Given the description of an element on the screen output the (x, y) to click on. 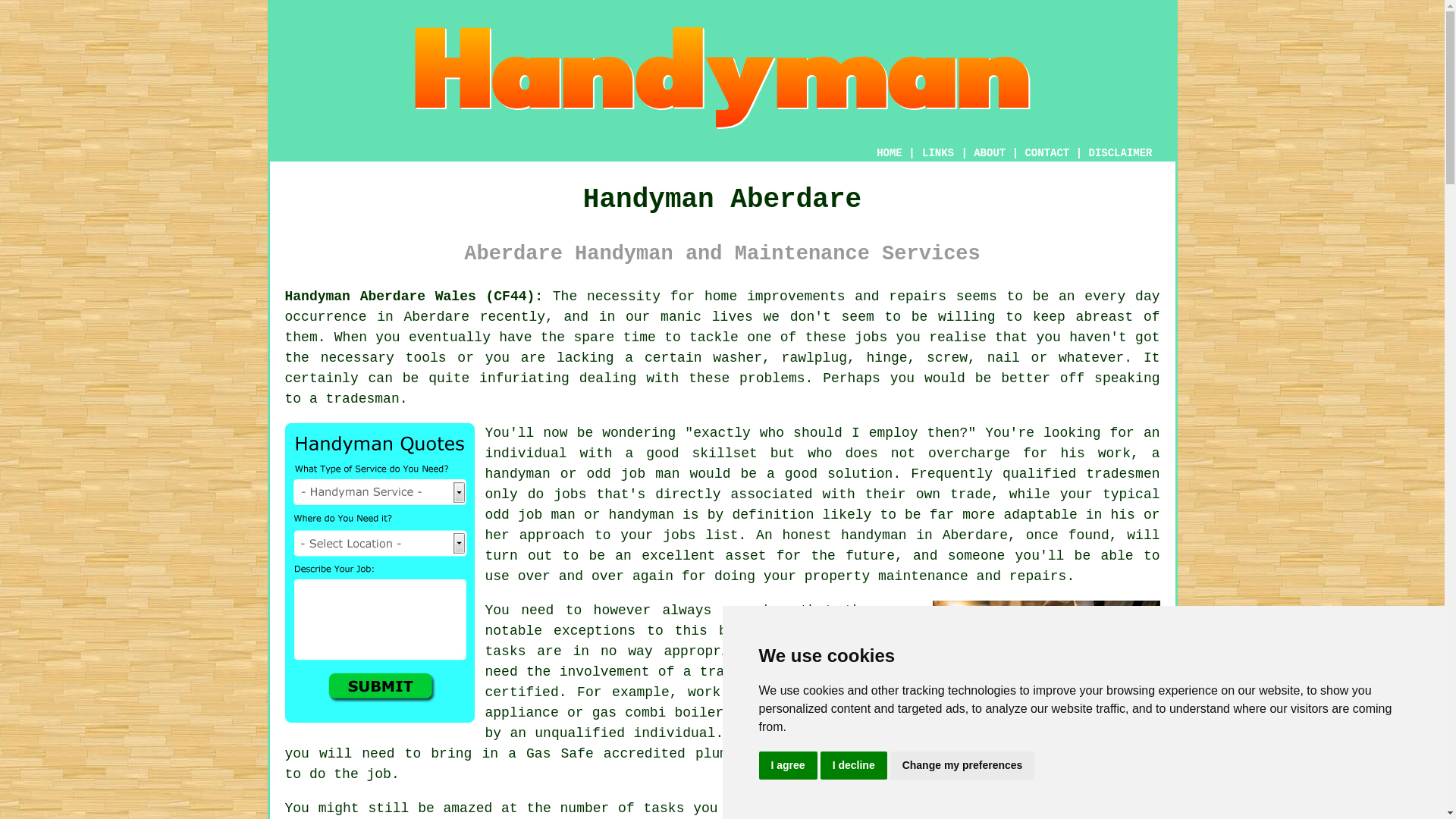
HOME (889, 152)
LINKS (938, 152)
I decline (853, 765)
Change my preferences (962, 765)
I agree (787, 765)
